Given the description of an element on the screen output the (x, y) to click on. 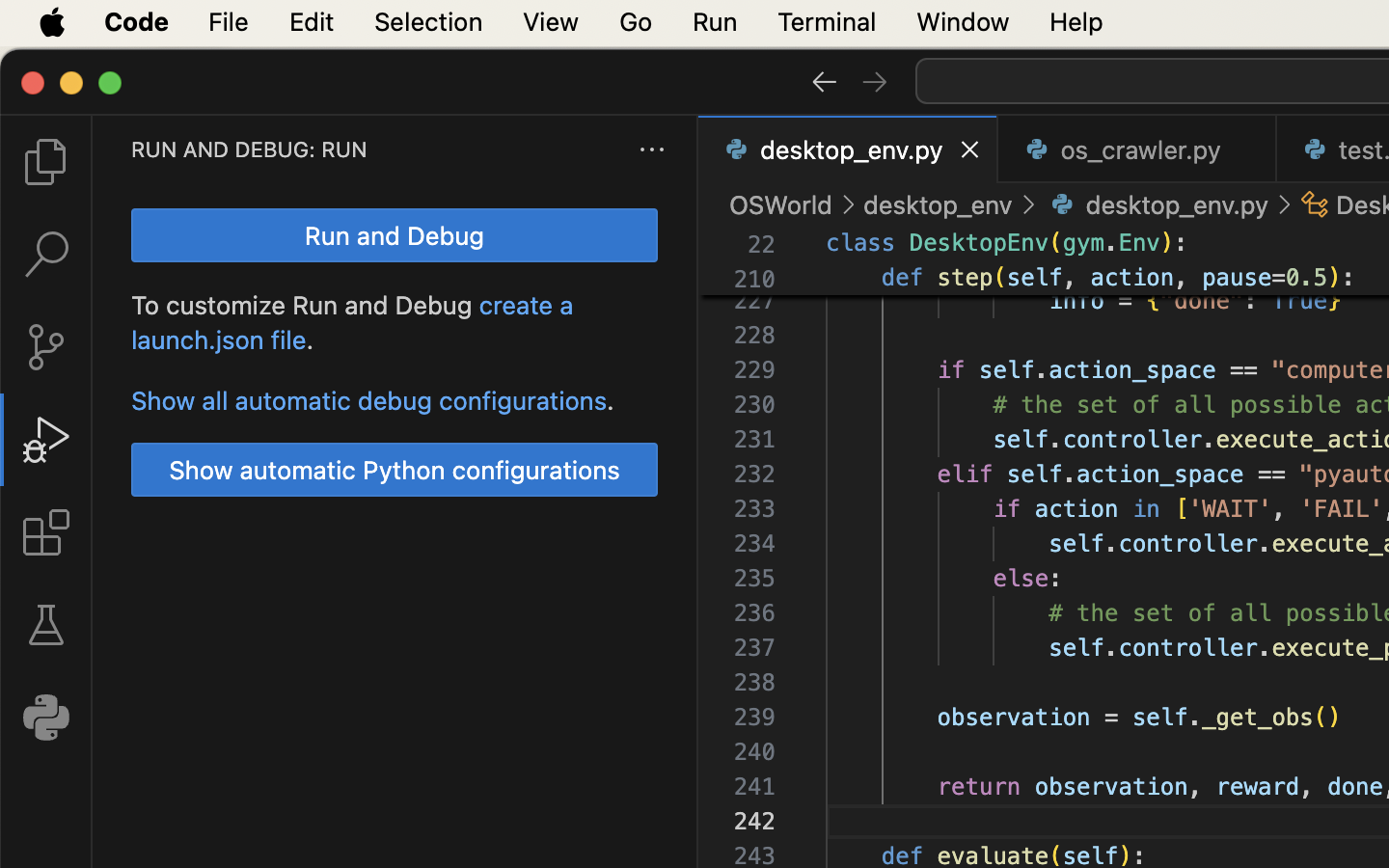
 Element type: AXButton (824, 80)
class Element type: AXStaticText (861, 242)
 Element type: AXGroup (46, 624)
0 os_crawler.py   Element type: AXRadioButton (1138, 149)
def Element type: AXStaticText (902, 277)
